Given the description of an element on the screen output the (x, y) to click on. 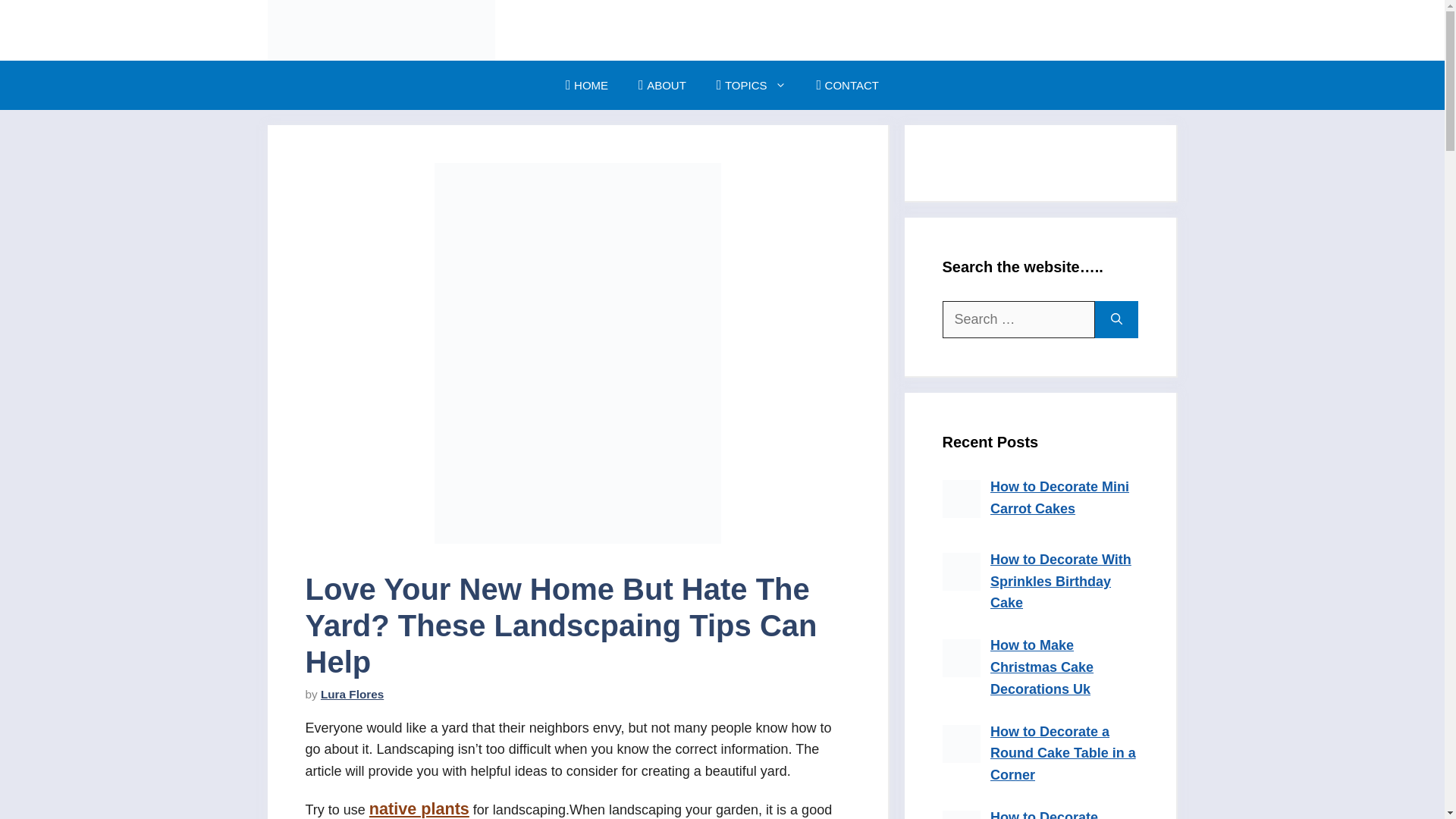
HOME (586, 84)
ABOUT (662, 84)
TOPICS (751, 84)
View all posts by Lura Flores (352, 694)
